Given the description of an element on the screen output the (x, y) to click on. 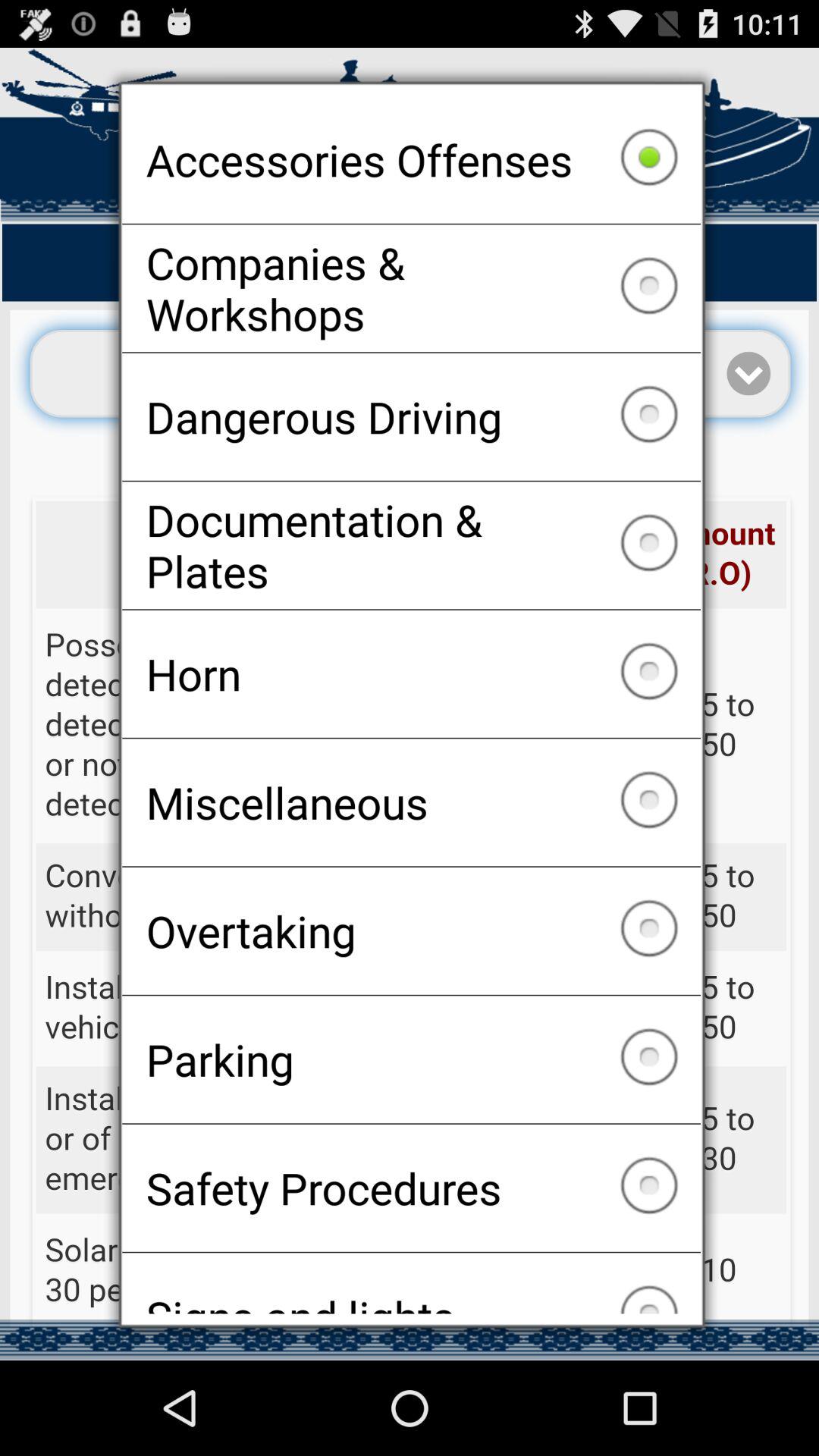
tap the overtaking (411, 930)
